Given the description of an element on the screen output the (x, y) to click on. 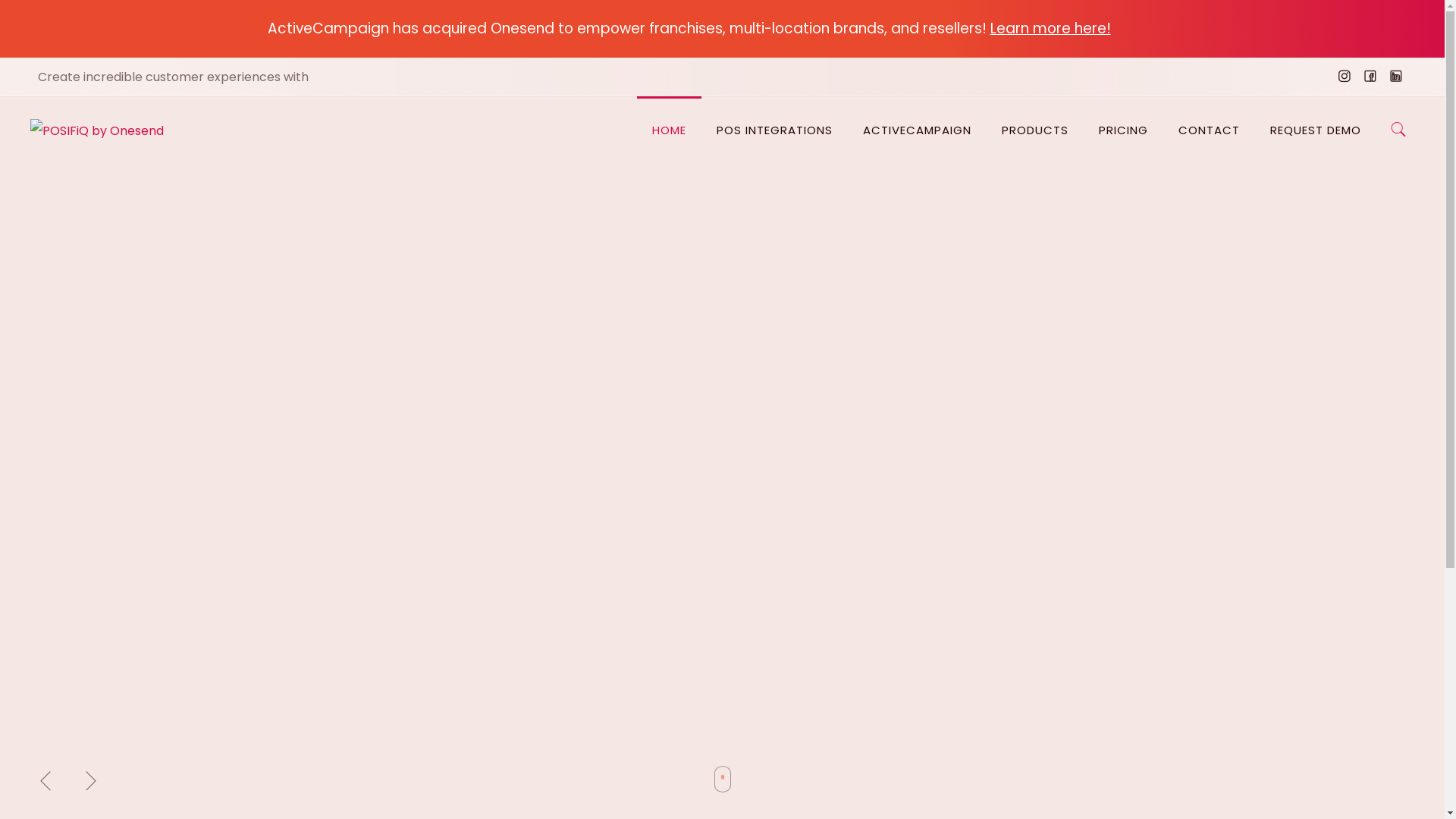
ACTIVECAMPAIGN Element type: text (916, 130)
instagram Element type: text (1343, 78)
linkedin Element type: text (1394, 78)
CONTACT Element type: text (1209, 130)
PRICING Element type: text (1123, 130)
POS INTEGRATIONS Element type: text (774, 130)
Learn more here! Element type: text (1050, 28)
facebook Element type: text (1369, 78)
HOME Element type: text (669, 130)
PRODUCTS Element type: text (1034, 130)
REQUEST DEMO Element type: text (1315, 130)
Onesend Element type: hover (96, 130)
